Given the description of an element on the screen output the (x, y) to click on. 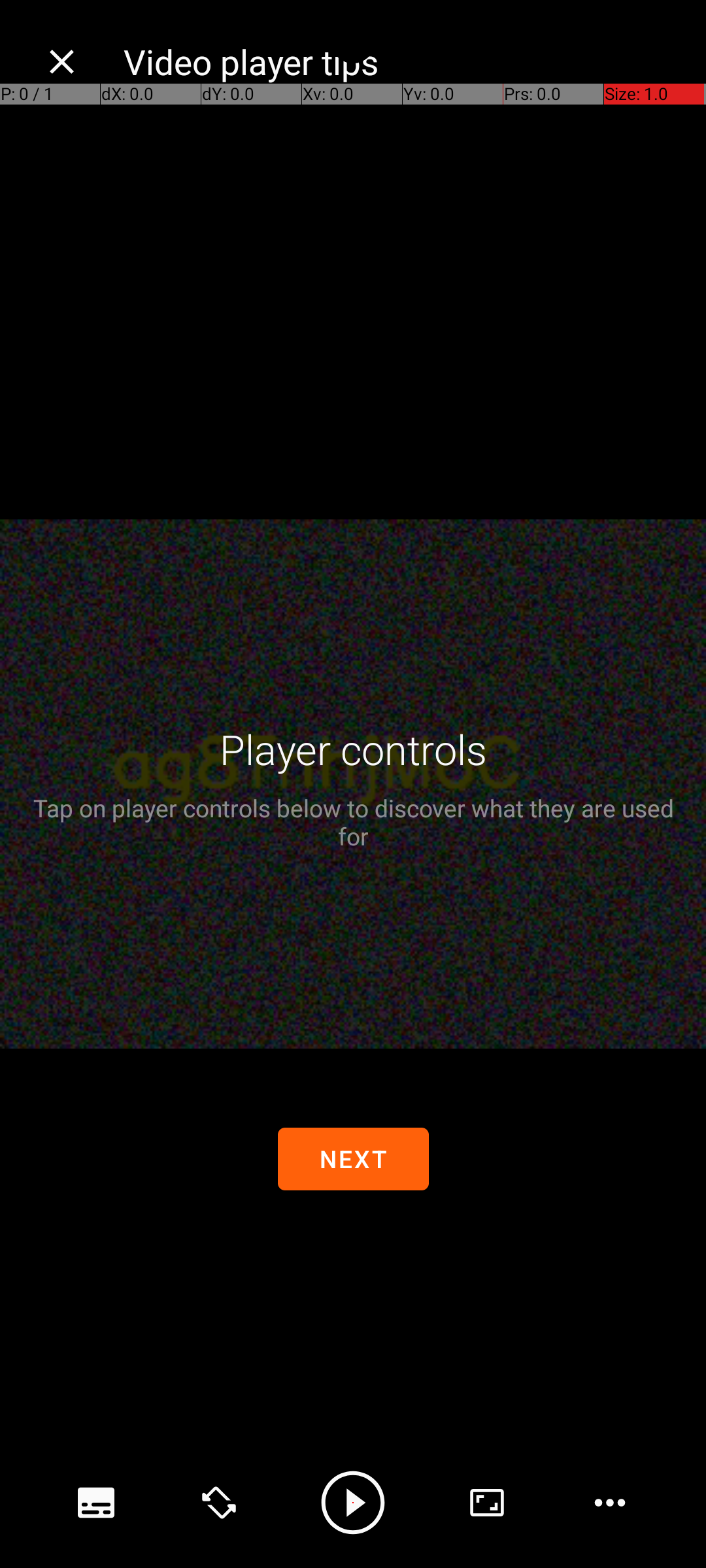
Video player. Tap to show controls. Tap the back button to hide them Element type: android.widget.FrameLayout (353, 784)
Video player tips Element type: android.widget.TextView (400, 61)
Player controls Element type: android.widget.TextView (353, 748)
Tap on player controls below to discover what they are used for Element type: android.widget.TextView (352, 821)
Play Element type: android.widget.ImageView (352, 1502)
advanced options Element type: android.widget.ImageView (486, 1502)
